Given the description of an element on the screen output the (x, y) to click on. 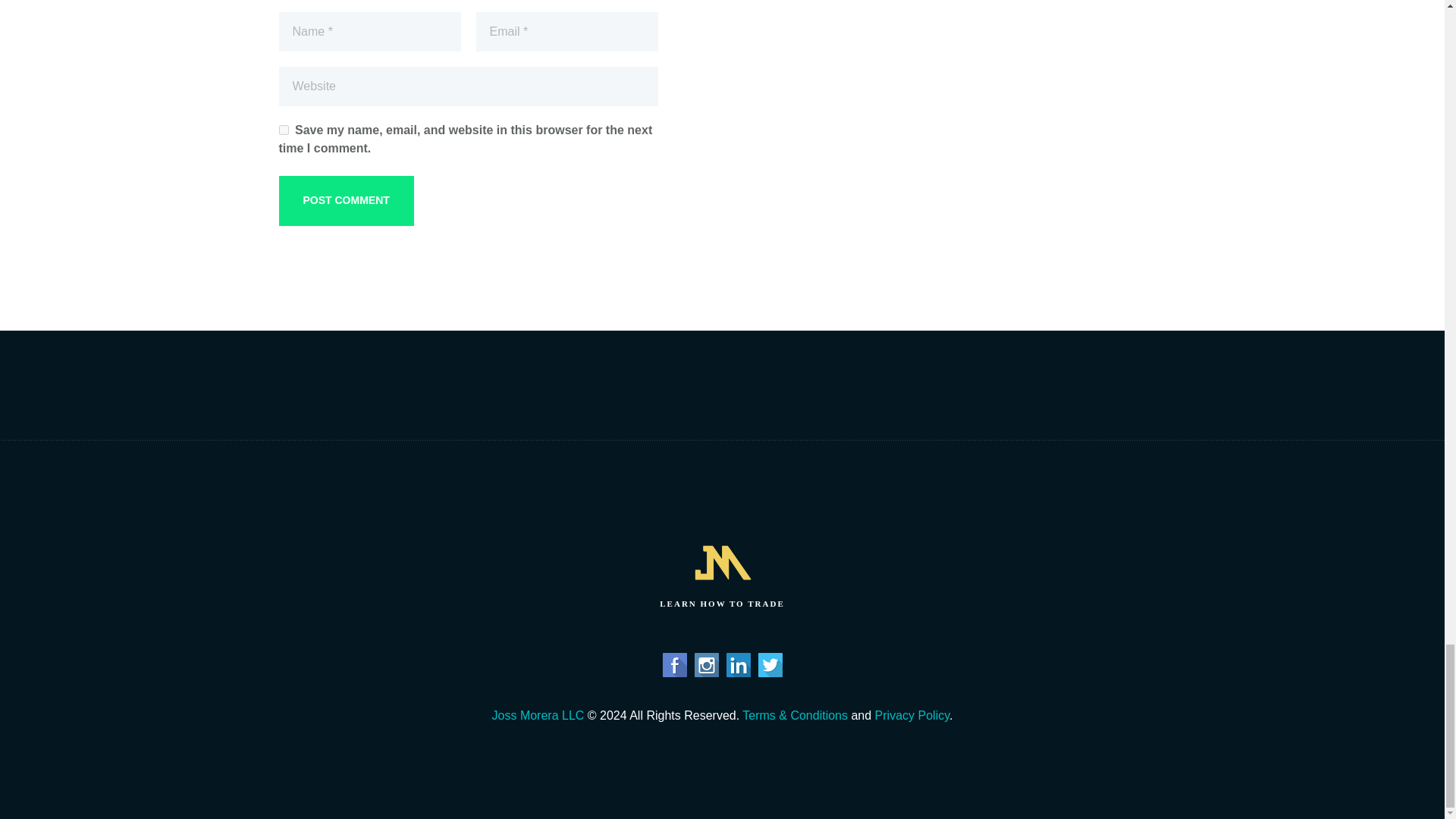
Post Comment (346, 201)
yes (283, 130)
Post Comment (346, 201)
LEARN HOW TO TRADE (721, 573)
